Given the description of an element on the screen output the (x, y) to click on. 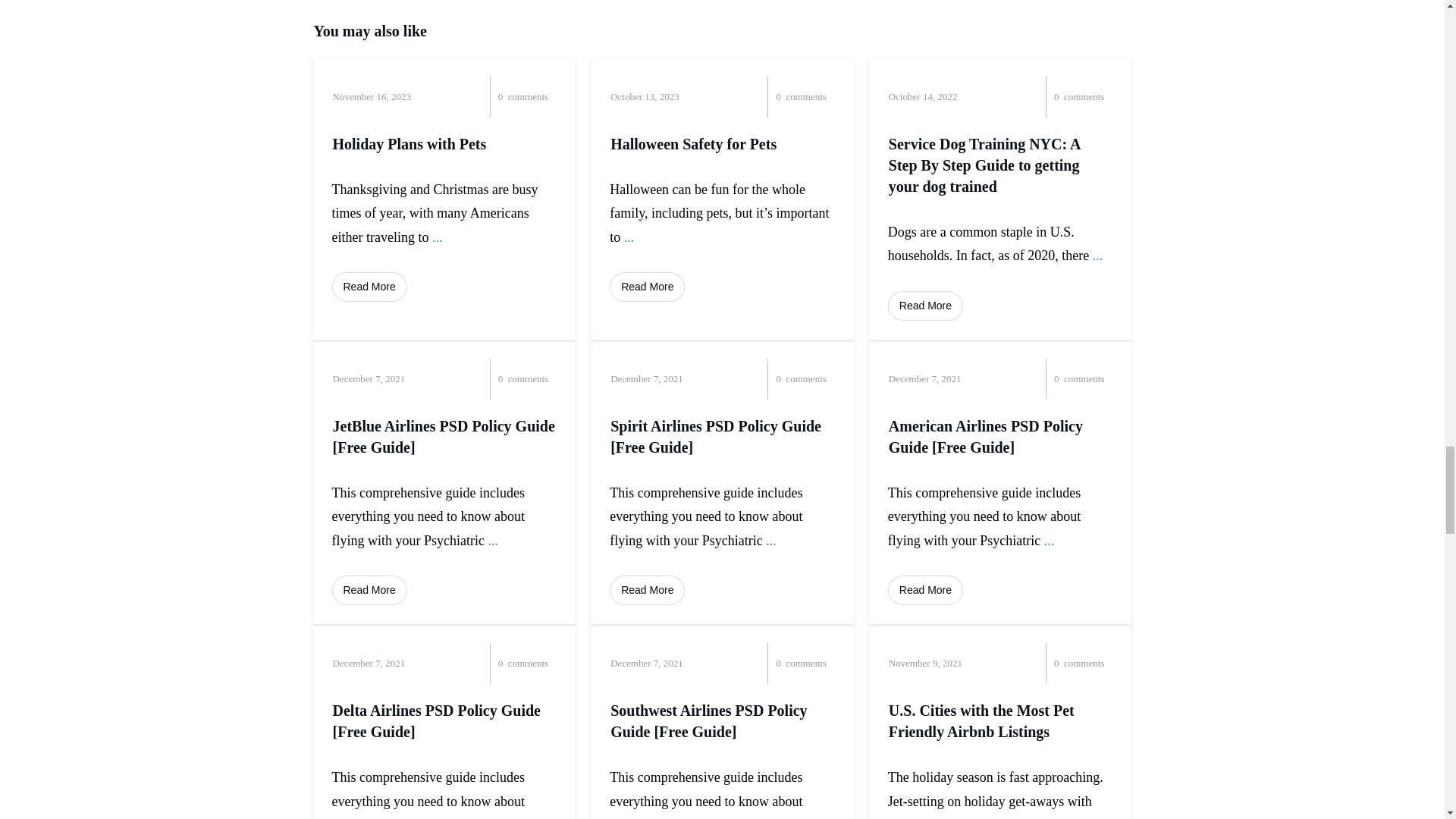
0  comments (502, 378)
Read More (647, 286)
Read More (925, 306)
Holiday Plans with Pets (408, 143)
Halloween Safety for Pets (693, 143)
Holiday Plans with Pets (408, 143)
0  comments (1059, 96)
Read More (369, 286)
0  comments (781, 96)
0  comments (502, 96)
U.S. Cities with the Most Pet Friendly Airbnb Listings (981, 720)
Halloween Safety for Pets (693, 143)
